Given the description of an element on the screen output the (x, y) to click on. 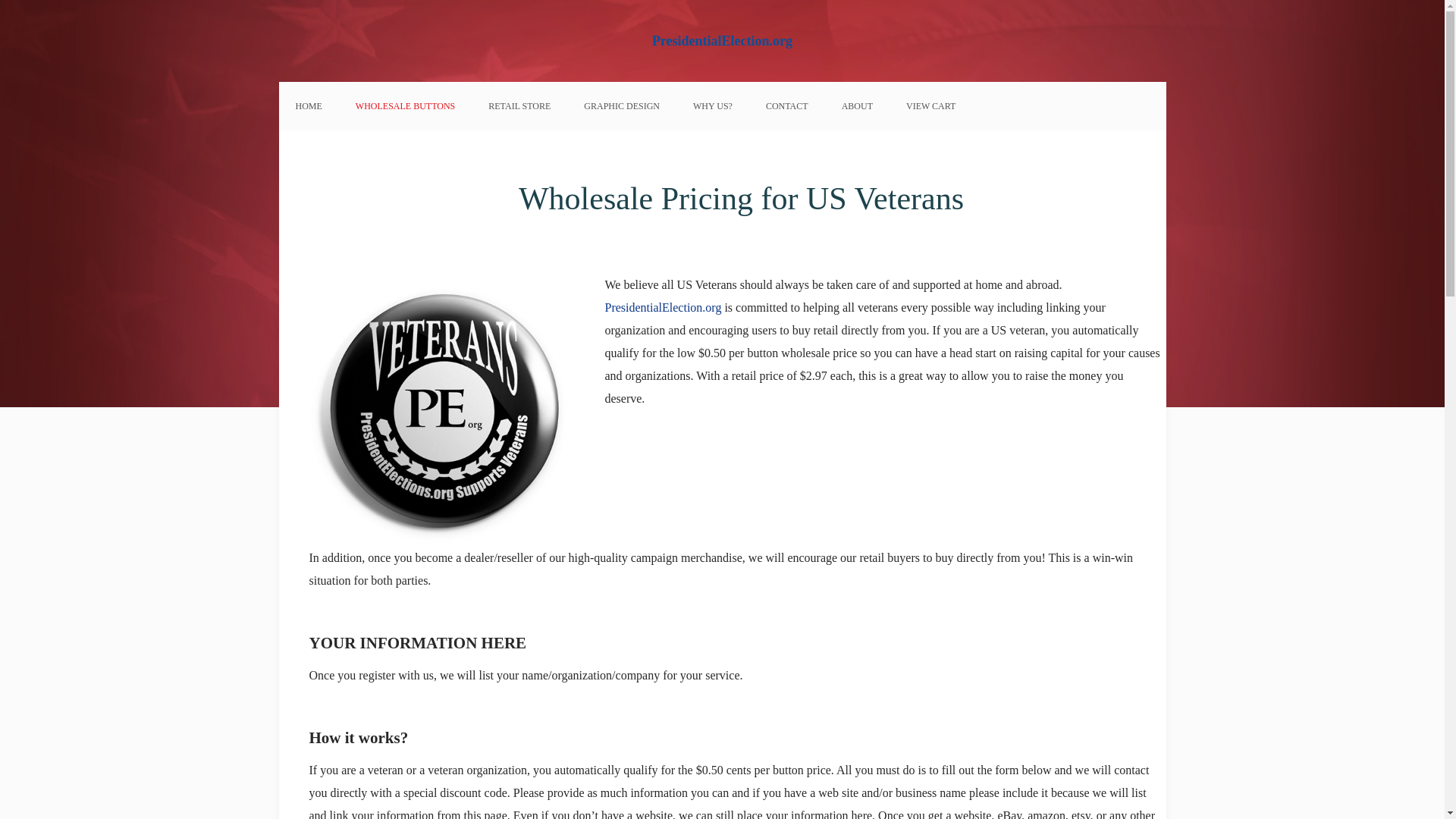
PresidentialElection.org (662, 307)
VIEW CART (930, 105)
RETAIL STORE (519, 105)
WHOLESALE BUTTONS (405, 105)
ABOUT (857, 105)
GRAPHIC DESIGN (622, 105)
HOME (309, 105)
WHY US? (713, 105)
CONTACT (787, 105)
PresidentialElection.org (722, 40)
